Given the description of an element on the screen output the (x, y) to click on. 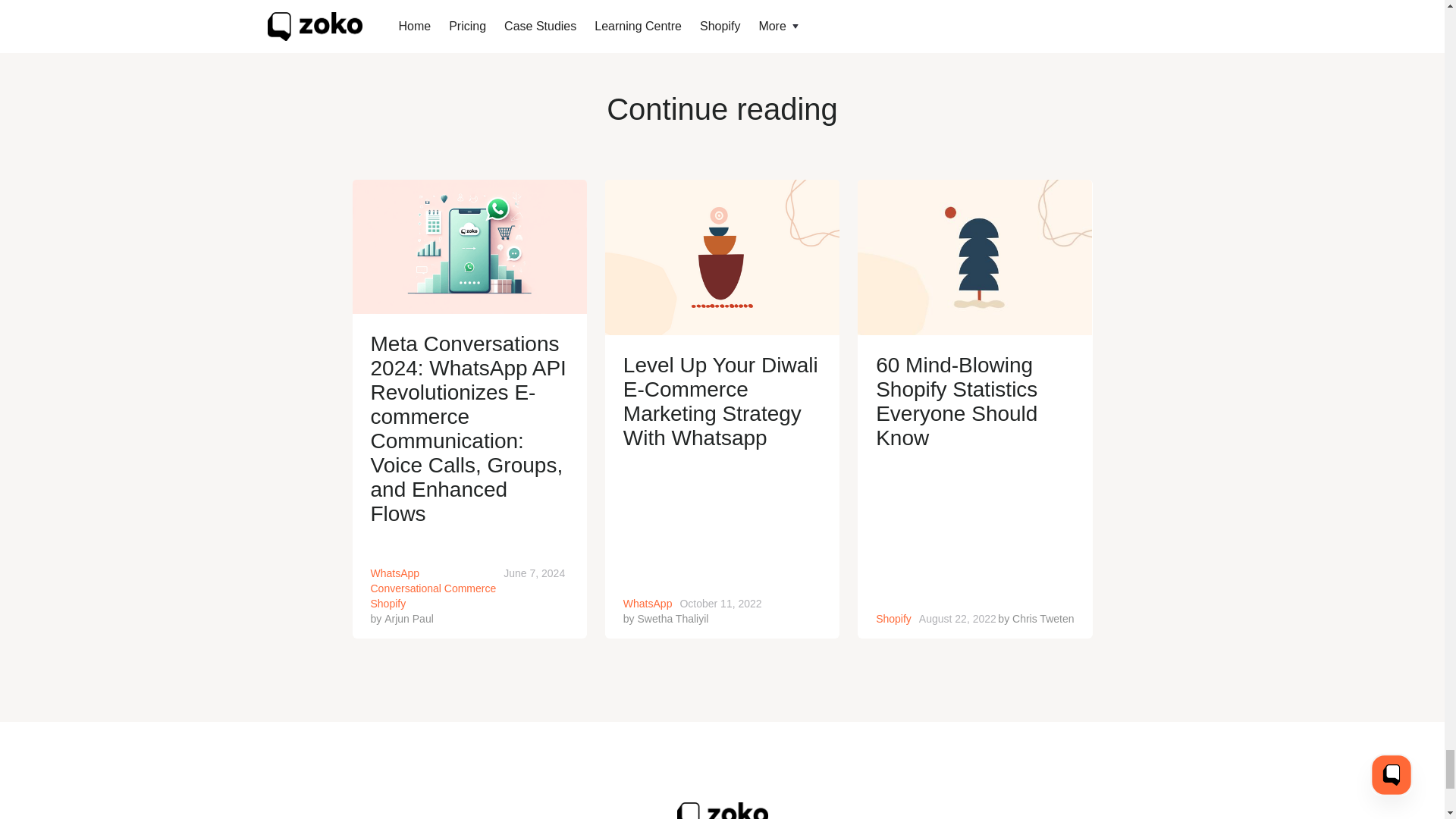
Shopify Apps (558, 31)
